Given the description of an element on the screen output the (x, y) to click on. 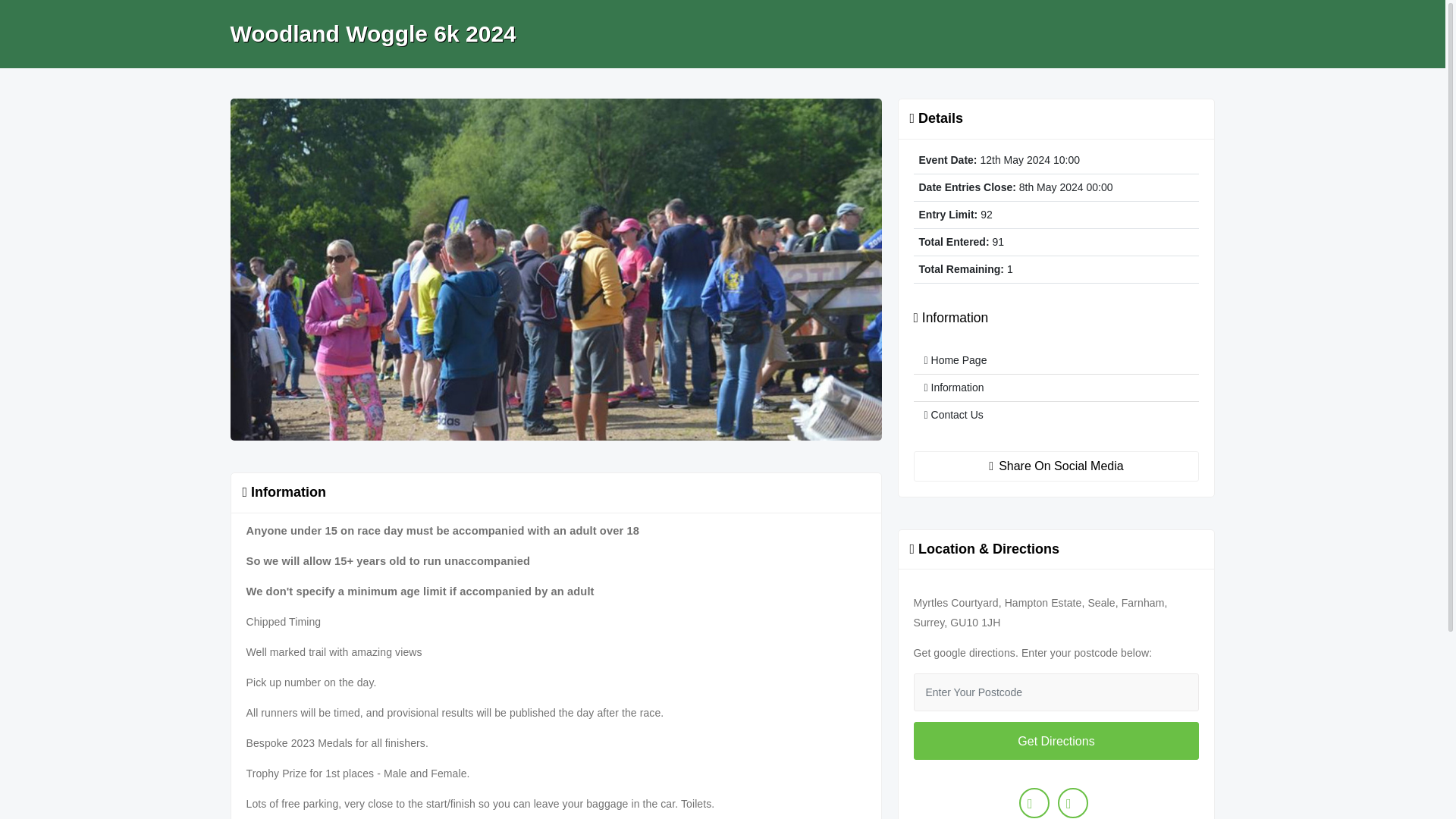
Share On Social Media (1055, 466)
Contact Us (1055, 415)
Get Directions (1055, 740)
Get Directions (1055, 740)
Information (1055, 388)
Woodland Woggle 6k 2024 (373, 33)
Home Page (1055, 360)
